Given the description of an element on the screen output the (x, y) to click on. 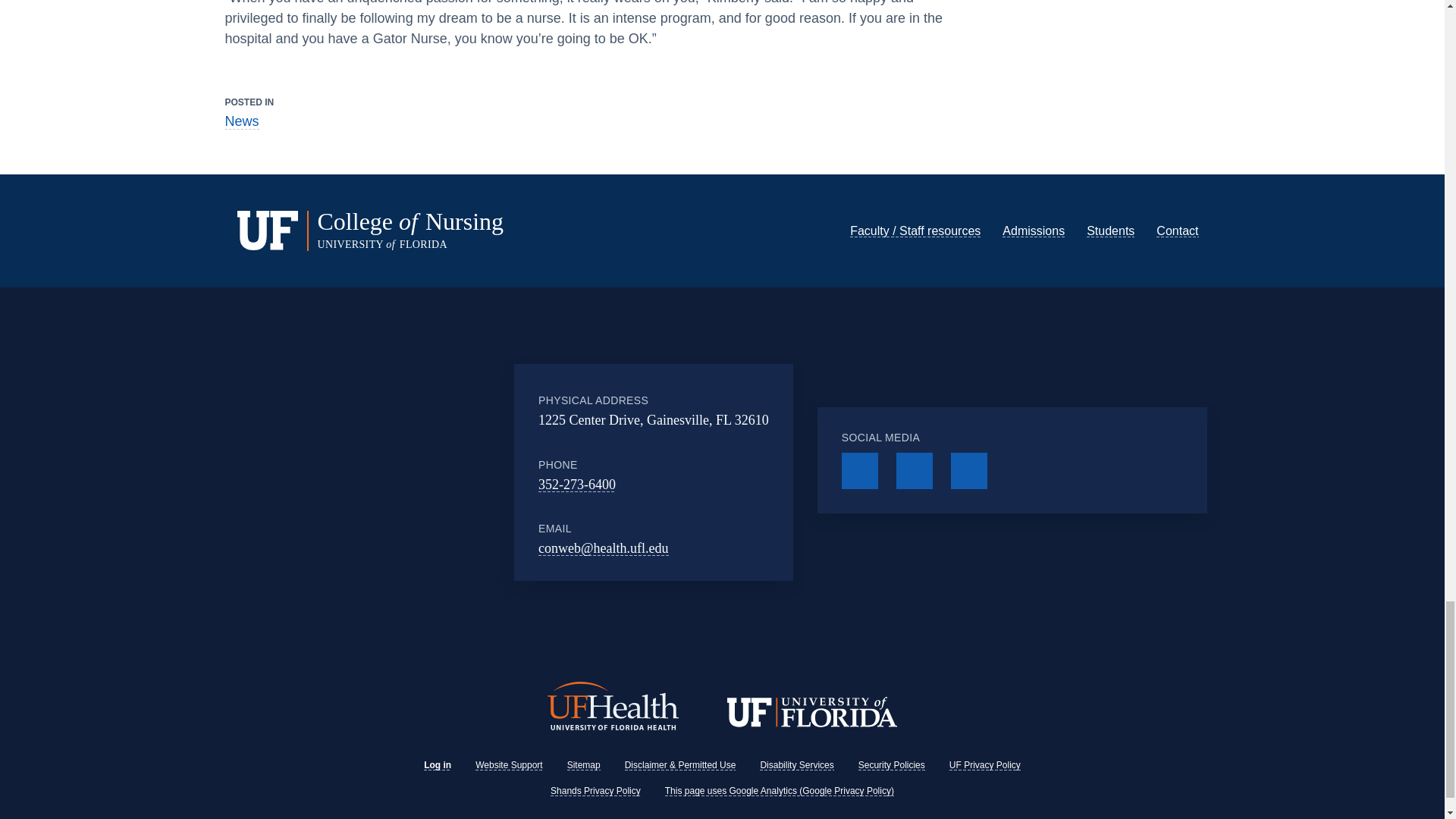
Students (1110, 230)
Contact (1177, 230)
Security Policies (891, 740)
Google Maps Embed (423, 472)
Shands Privacy Policy (595, 766)
Log in (437, 740)
Admissions (1033, 230)
Disability Services (796, 740)
Sitemap (583, 740)
UF Privacy Policy (984, 740)
Website Support (509, 740)
352-273-6400 (576, 484)
